Given the description of an element on the screen output the (x, y) to click on. 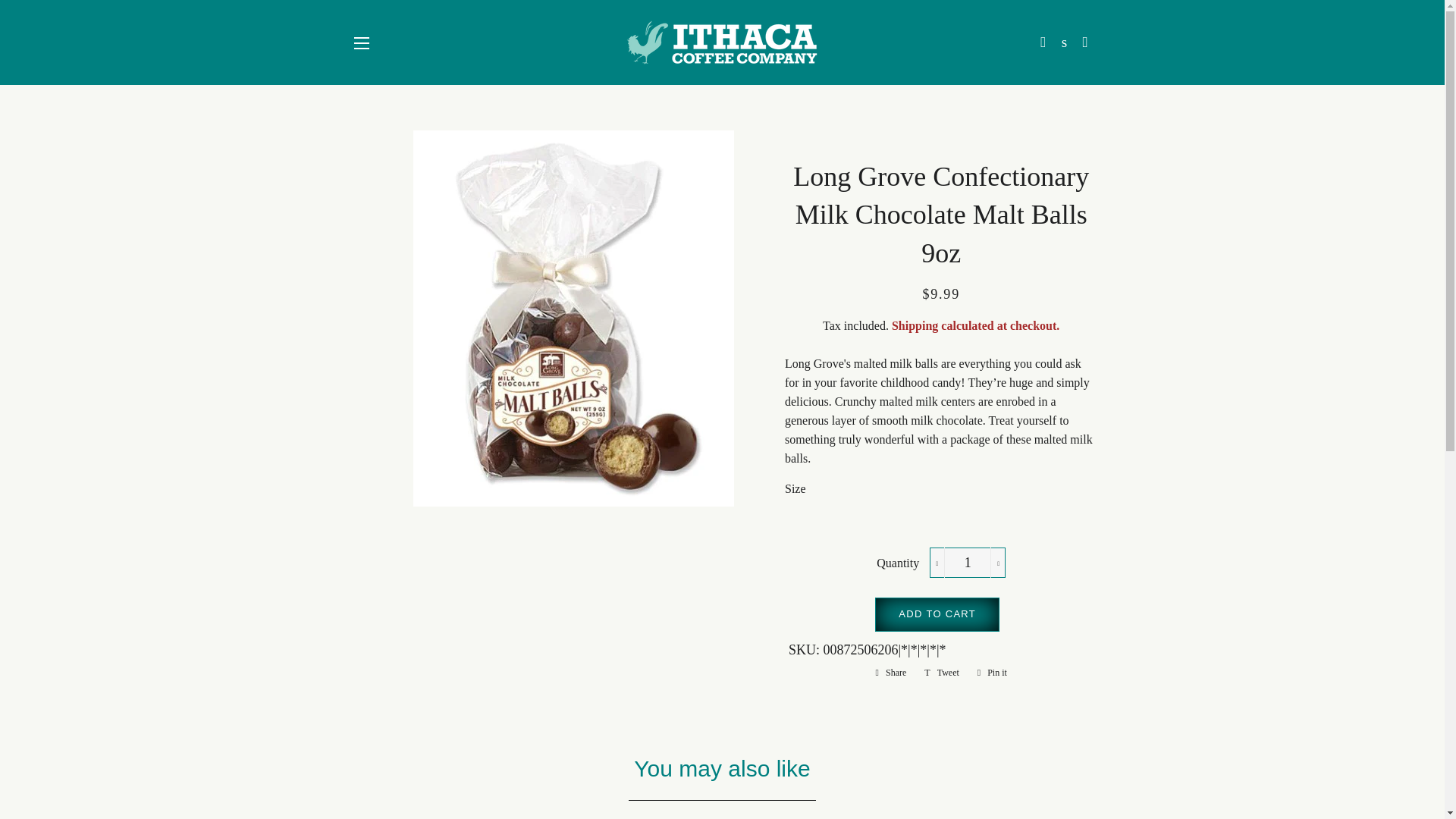
Tweet on Twitter (941, 672)
SITE NAVIGATION (361, 43)
Share on Facebook (890, 672)
Pin on Pinterest (991, 672)
1 (968, 562)
